Given the description of an element on the screen output the (x, y) to click on. 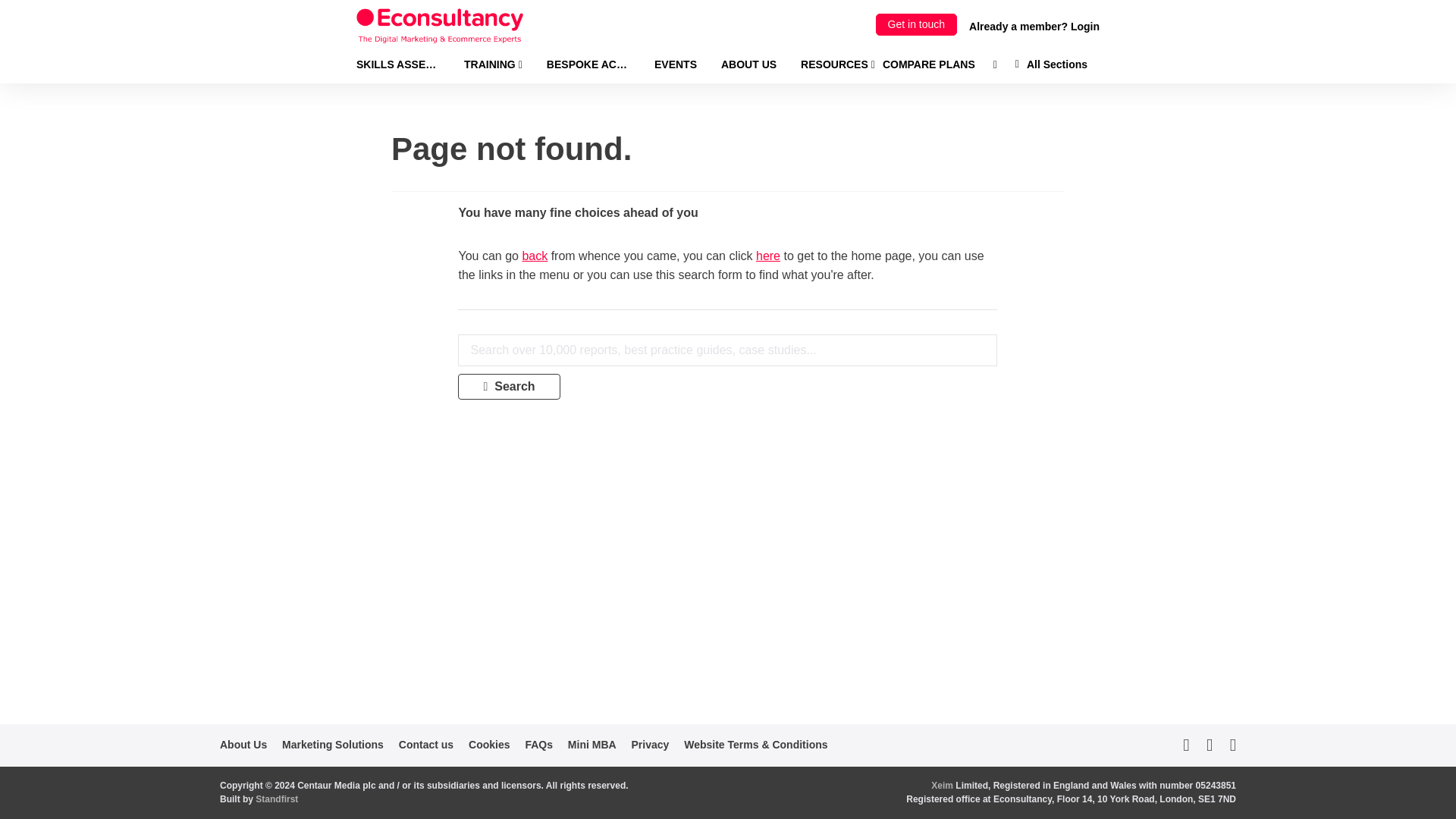
RESOURCES (837, 64)
Already a member? Login (1034, 26)
TRAINING (493, 64)
SKILLS ASSESSMENT (397, 64)
EVENTS (675, 64)
All Sections (1050, 64)
Get in touch (917, 24)
ABOUT US (748, 64)
COMPARE PLANS (928, 64)
BESPOKE ACADEMIES (588, 64)
